Given the description of an element on the screen output the (x, y) to click on. 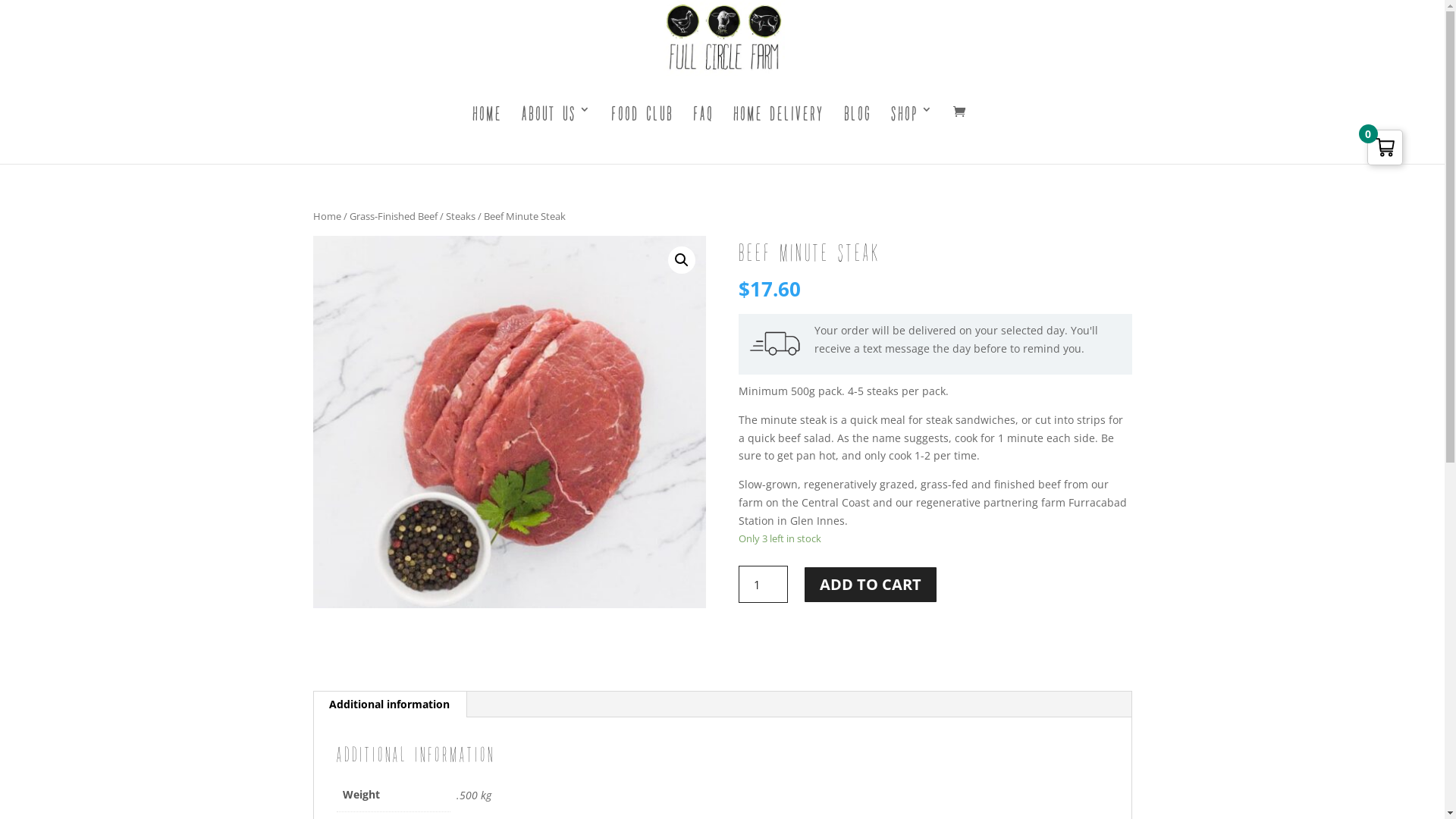
Additional information Element type: text (389, 704)
HOME Element type: text (486, 131)
SHOP Element type: text (911, 131)
Steaks Element type: text (460, 215)
Home Element type: text (326, 215)
Qty Element type: hover (762, 583)
FAQ Element type: text (703, 131)
HOME DELIVERY Element type: text (777, 131)
minute steak 2nd Element type: hover (508, 421)
BLOG Element type: text (856, 131)
ADD TO CART Element type: text (870, 584)
ABOUT US Element type: text (556, 131)
Grass-Finished Beef Element type: text (392, 215)
FOOD CLUB Element type: text (642, 131)
